Given the description of an element on the screen output the (x, y) to click on. 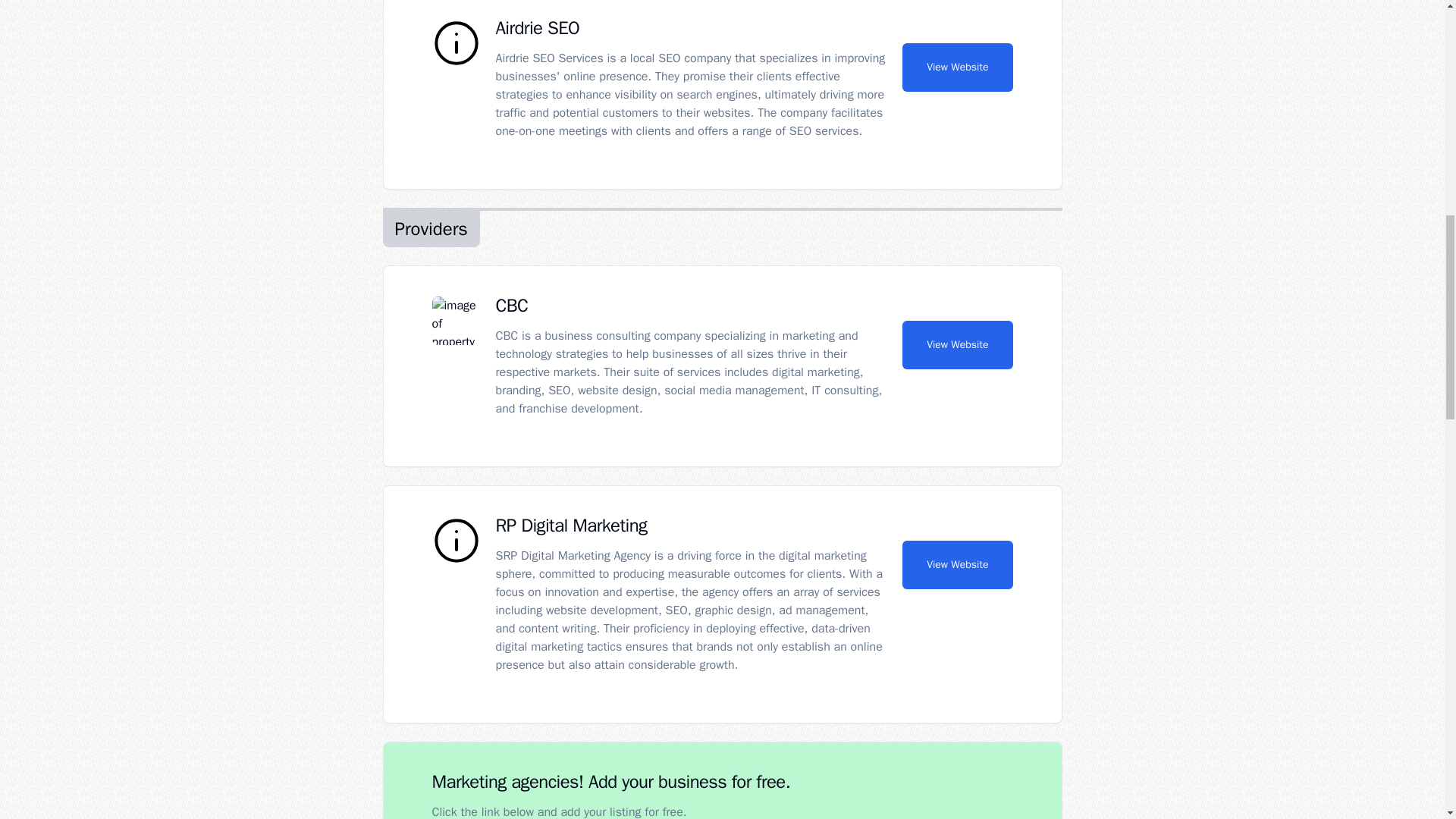
View Website (956, 67)
View Website (956, 564)
View Website (956, 345)
